Given the description of an element on the screen output the (x, y) to click on. 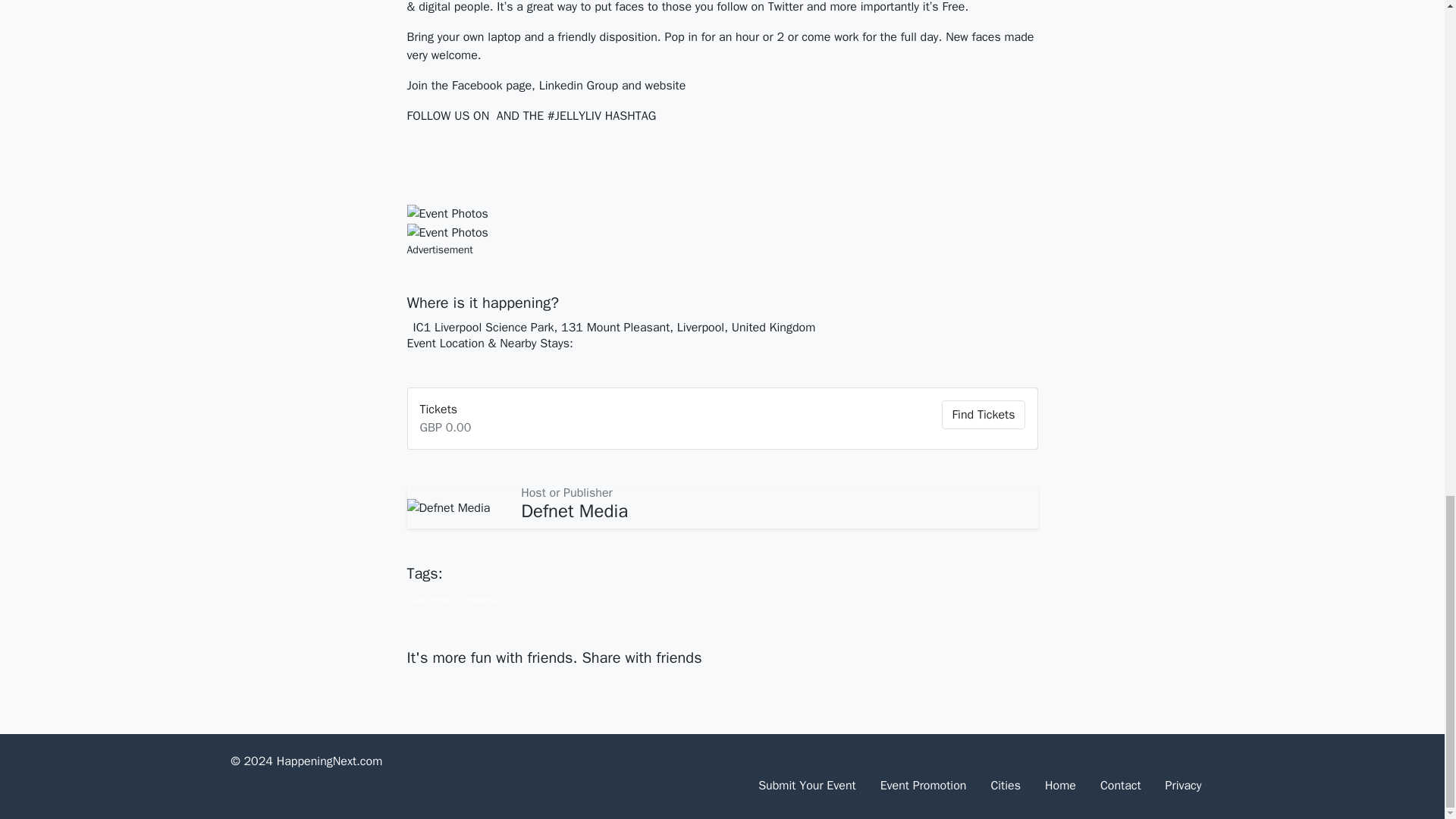
Promote Your Event (922, 785)
Event Promotion (922, 785)
Find Tickets (983, 414)
Select Your City (1005, 785)
Submit Your Event (806, 785)
Home (1059, 785)
Contact (1120, 785)
Business in Liverpool (454, 598)
Liverpool upcoming business Events (454, 598)
HappeningNext Homepage (1059, 785)
